Given the description of an element on the screen output the (x, y) to click on. 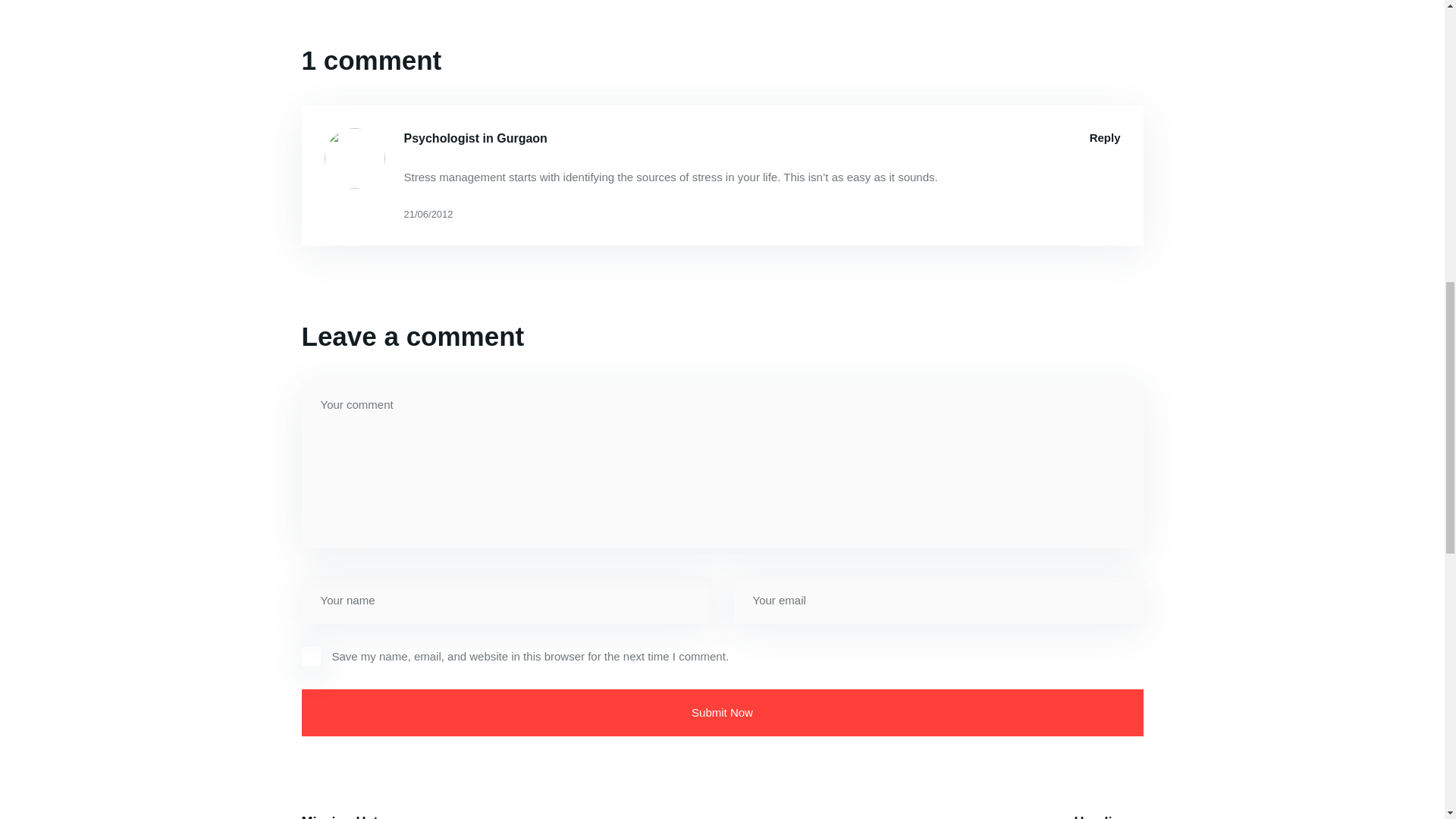
Submit Now (721, 713)
